Given the description of an element on the screen output the (x, y) to click on. 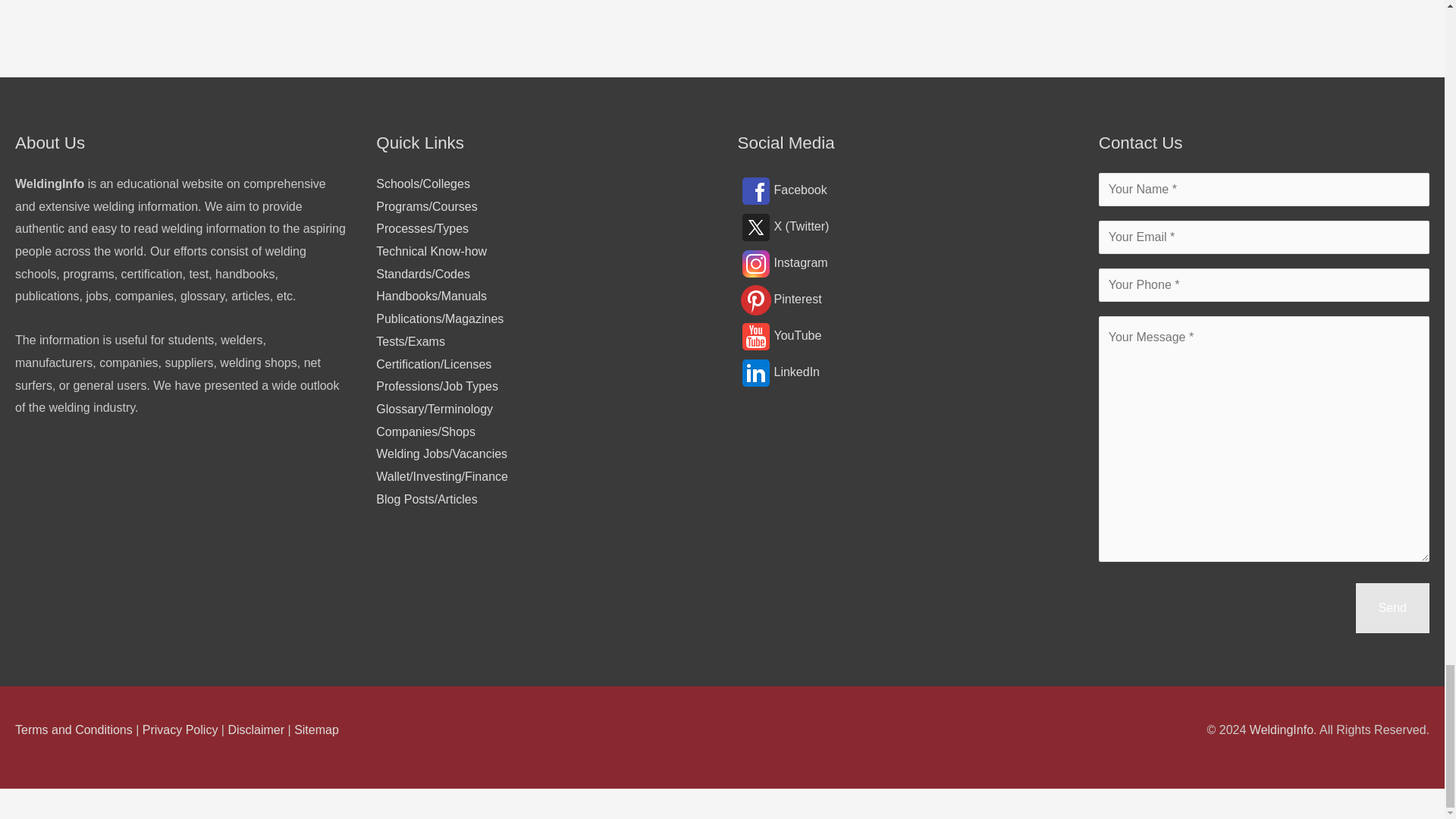
Send (1392, 608)
